Given the description of an element on the screen output the (x, y) to click on. 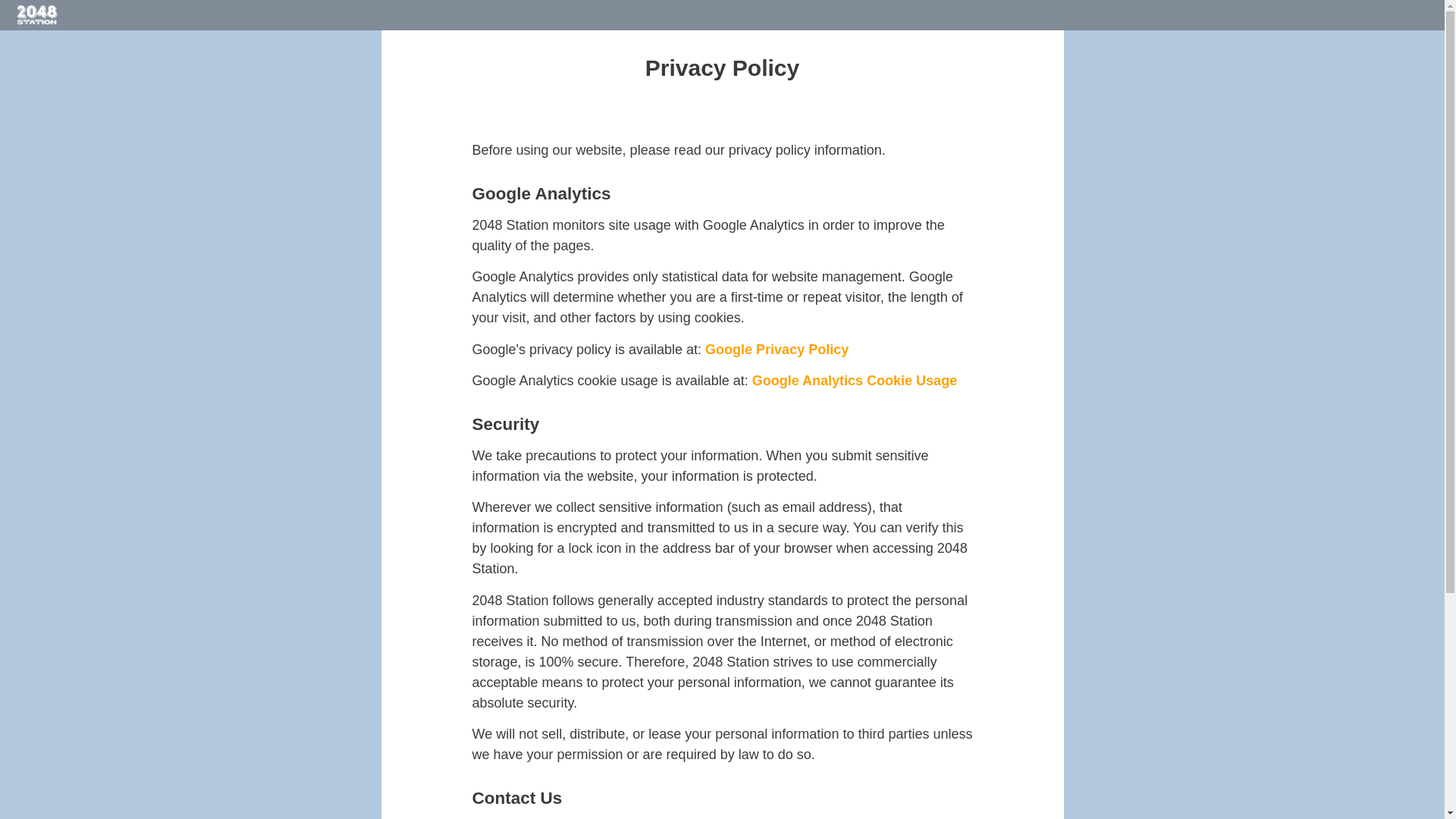
Google Analytics Cookie Usage Element type: text (854, 380)
Google Privacy Policy Element type: text (776, 348)
